Given the description of an element on the screen output the (x, y) to click on. 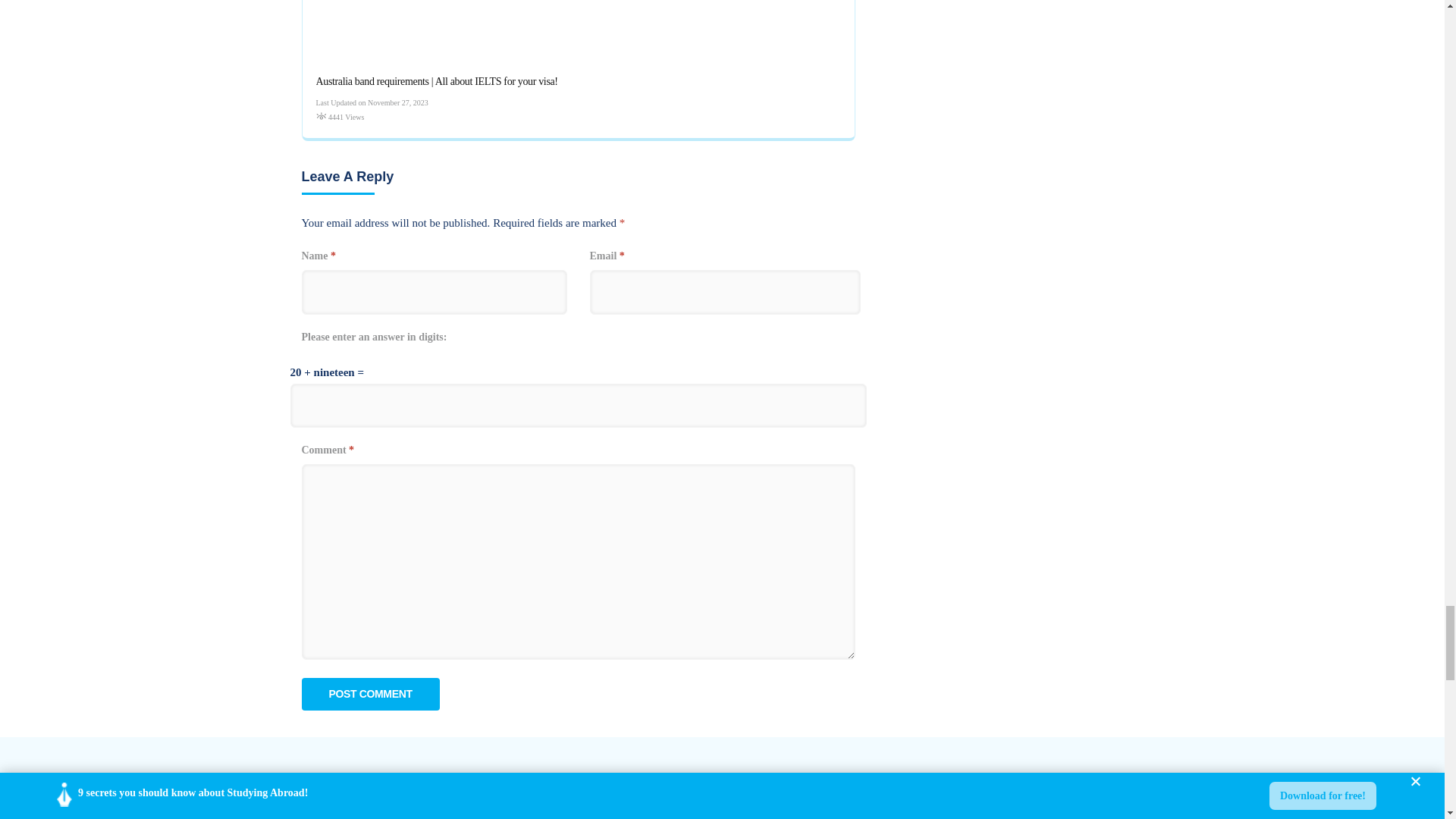
Post Comment (370, 694)
